Given the description of an element on the screen output the (x, y) to click on. 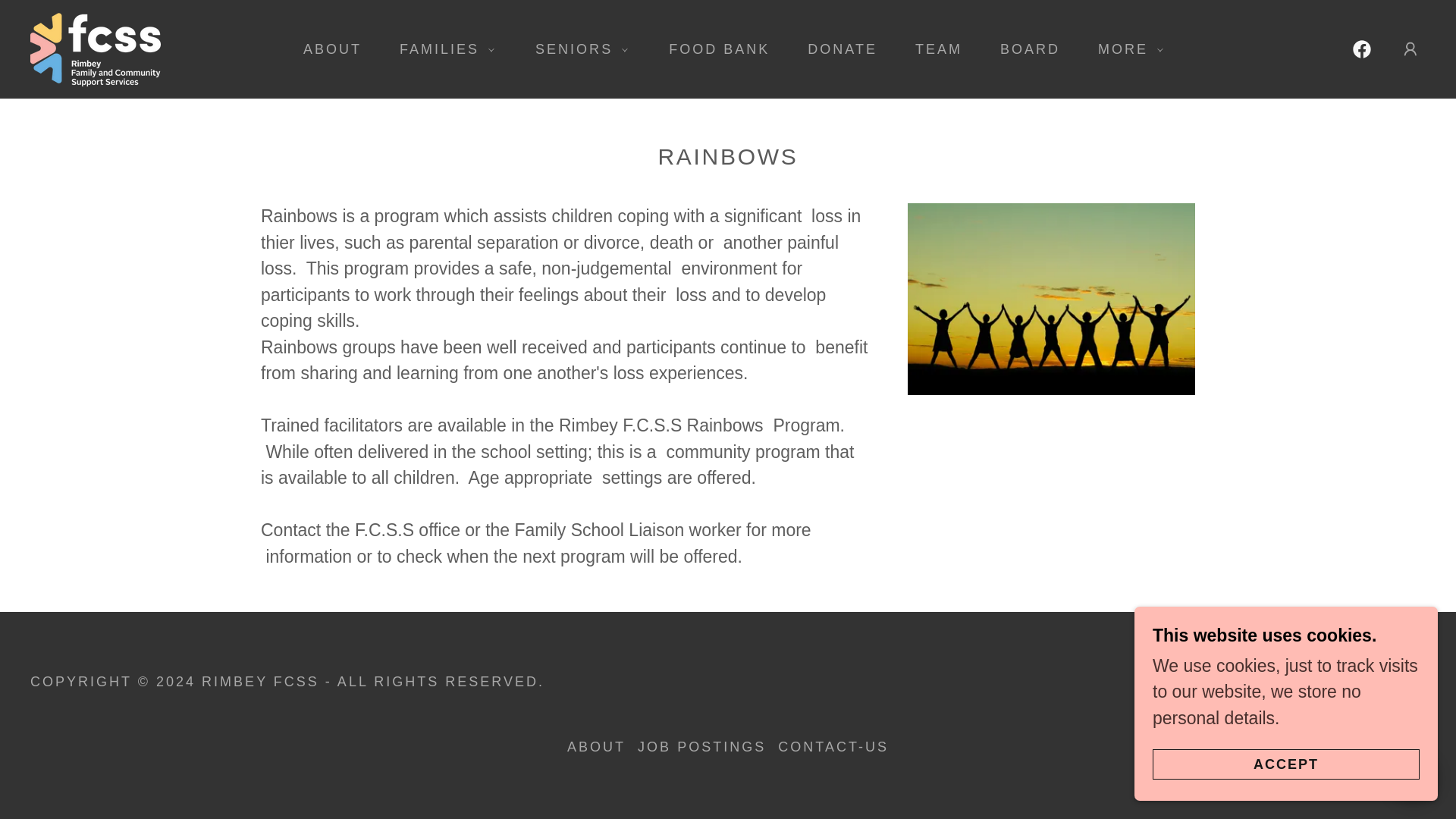
FAMILIES (441, 49)
TEAM (931, 49)
MORE (1125, 49)
ABOUT (325, 49)
SENIORS (575, 49)
DONATE (835, 49)
FOOD BANK (712, 49)
BOARD (1022, 49)
